Given the description of an element on the screen output the (x, y) to click on. 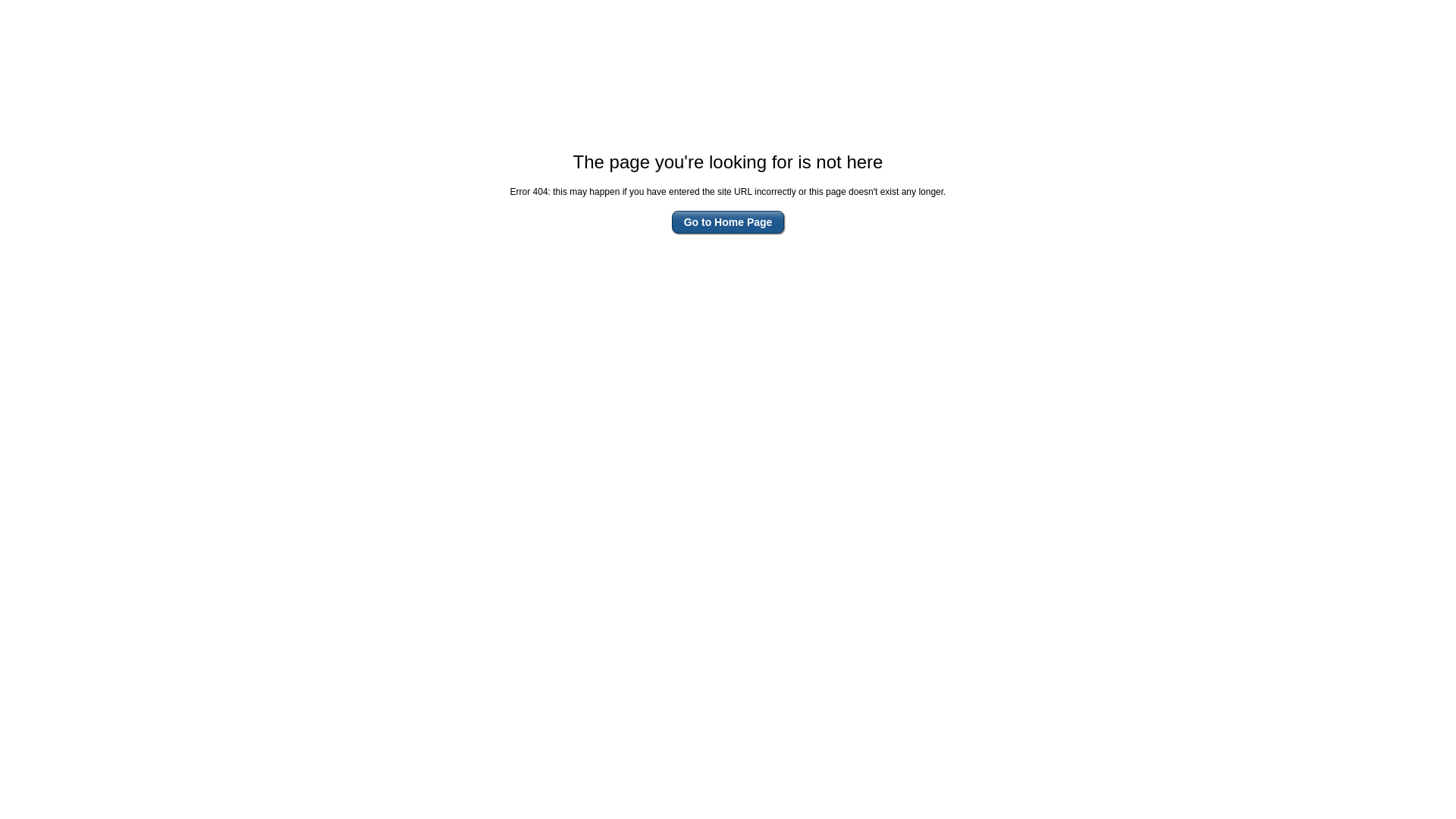
Go to Home Page Element type: text (727, 221)
